Given the description of an element on the screen output the (x, y) to click on. 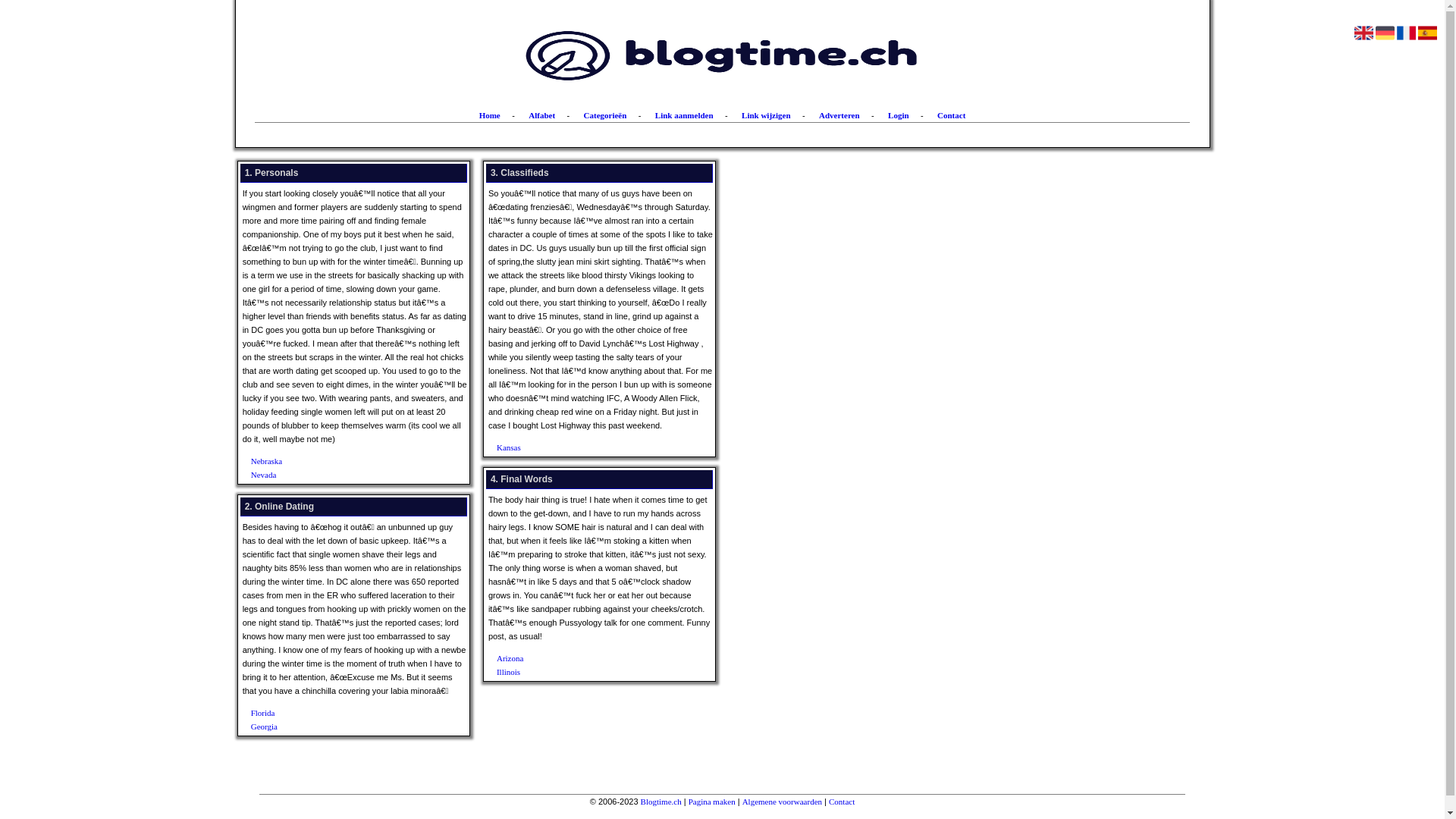
Contact Element type: text (951, 114)
Adverteren Element type: text (839, 114)
Contact Element type: text (841, 801)
Nebraska Element type: text (338, 460)
Link aanmelden Element type: text (684, 114)
Algemene voorwaarden Element type: text (782, 801)
Login Element type: text (898, 114)
Home Element type: text (489, 114)
Pagina maken Element type: text (711, 801)
Link wijzigen Element type: text (765, 114)
Blogtime.ch Element type: text (660, 801)
Nevada Element type: text (338, 474)
Illinois Element type: text (583, 671)
Georgia Element type: text (338, 726)
Florida Element type: text (338, 712)
Alfabet Element type: text (541, 114)
Arizona Element type: text (583, 658)
Kansas Element type: text (583, 447)
